Given the description of an element on the screen output the (x, y) to click on. 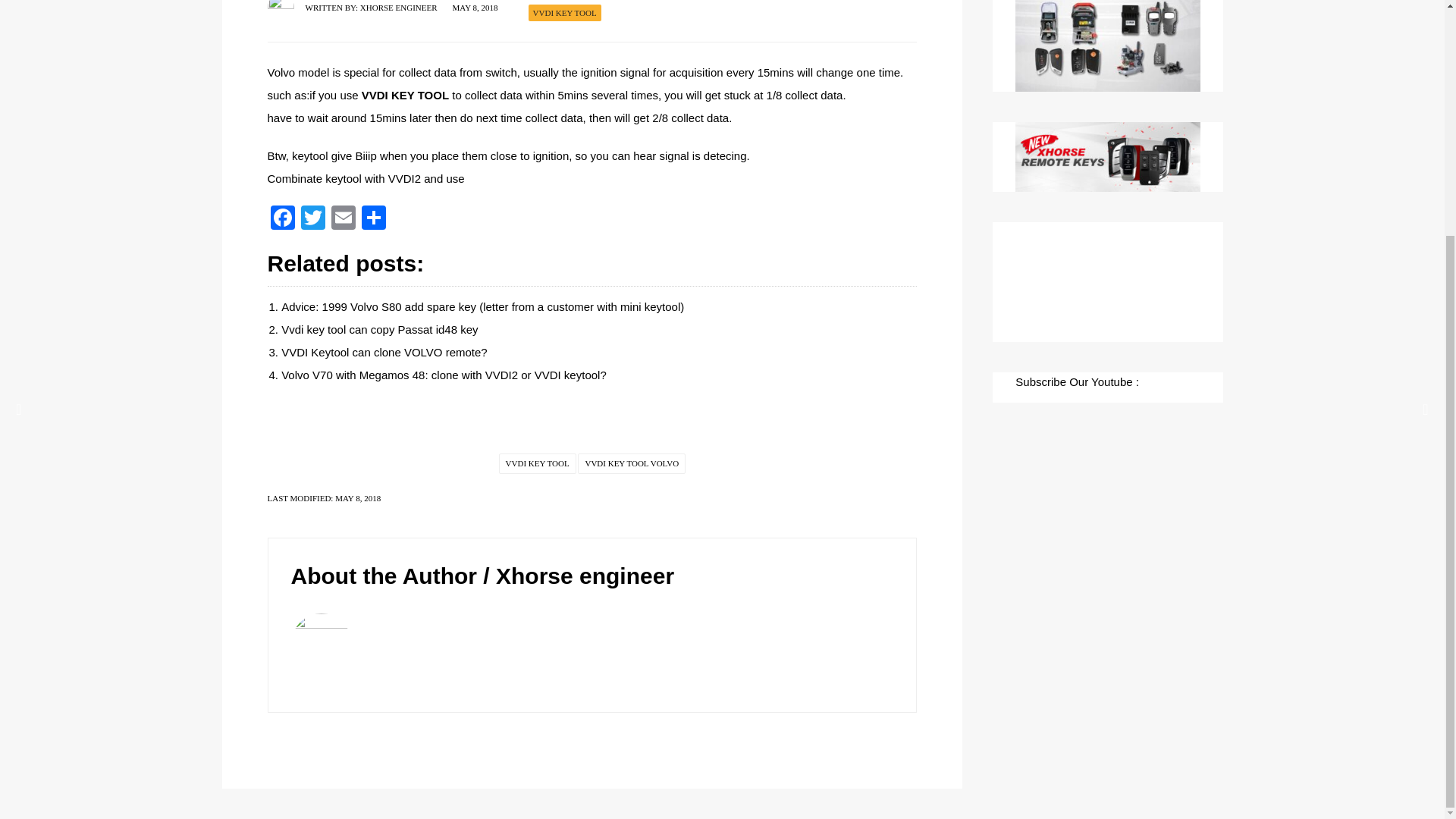
VVDI KEY TOOL (564, 12)
Email (342, 219)
Twitter (312, 219)
Facebook (281, 219)
Share (373, 219)
Xhorse tool USA UK Shipping (1106, 45)
Facebook (281, 219)
VVDI Keytool can clone VOLVO remote? (384, 351)
Xhorse engineer (585, 575)
VVDI Keytool can clone VOLVO remote? (384, 351)
Twitter (312, 219)
VVDI KEY TOOL VOLVO (631, 463)
Posts by Xhorse engineer (398, 7)
Volvo V70 with Megamos 48: clone with VVDI2 or VVDI keytool? (444, 374)
Vvdi key tool can copy Passat id48 key (379, 328)
